Given the description of an element on the screen output the (x, y) to click on. 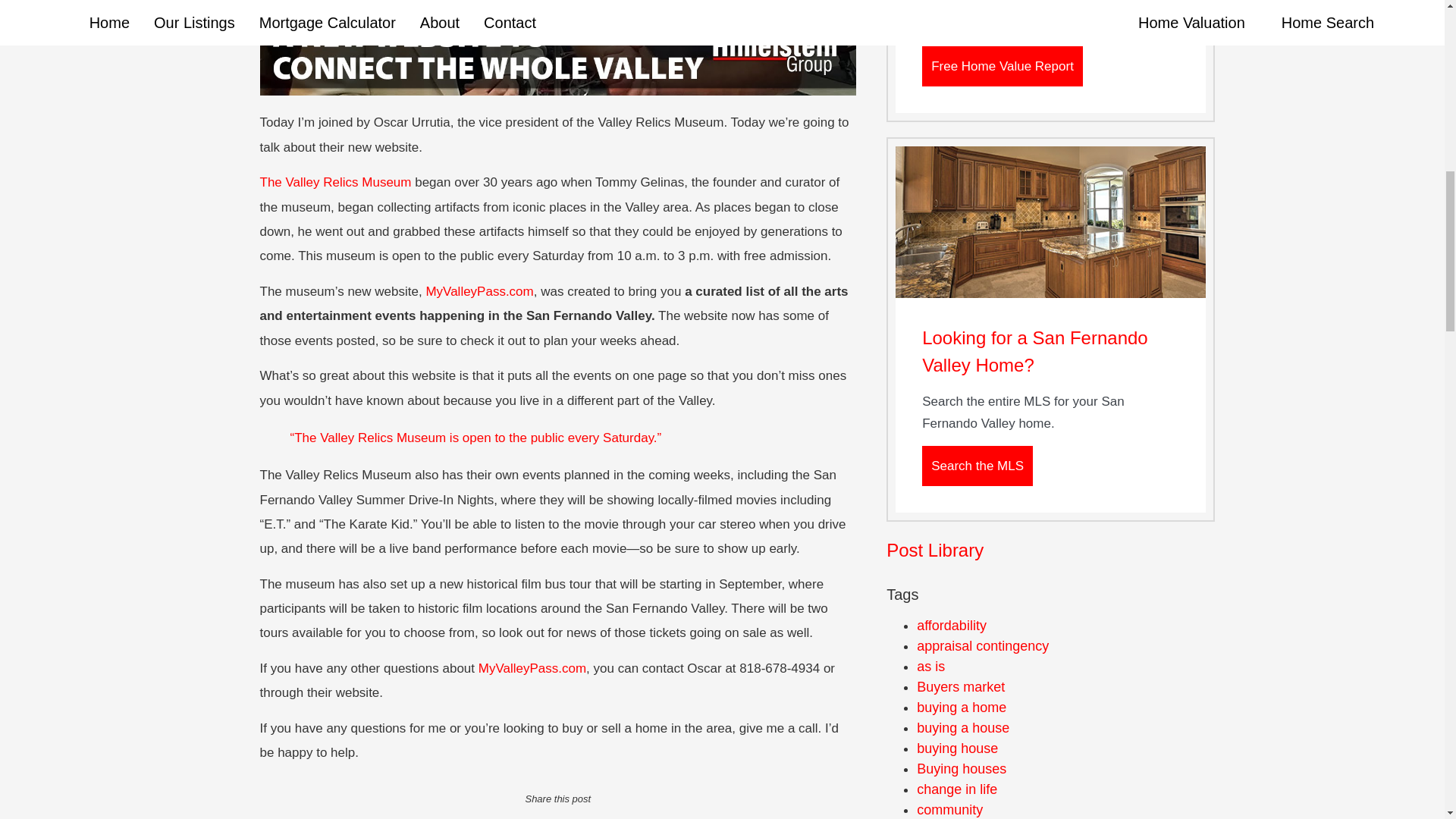
The Valley Relics Museum (334, 182)
MyValleyPass.com (532, 667)
MyValleyPass.com (478, 291)
